Given the description of an element on the screen output the (x, y) to click on. 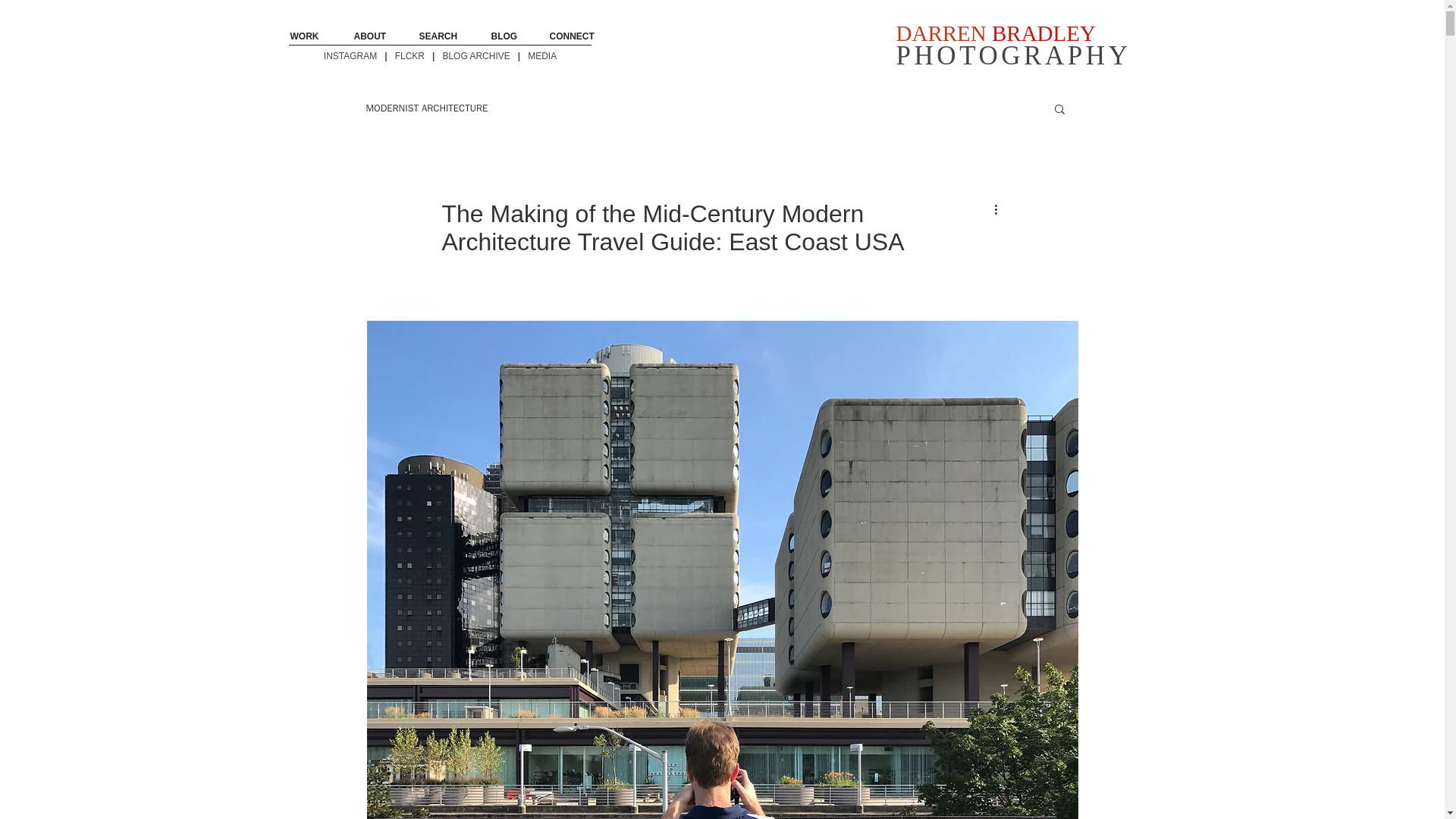
SEARCH (442, 36)
MEDIA (541, 55)
ABOUT (373, 36)
WORK (309, 36)
FLCKR (409, 55)
INSTAGRAM    (353, 55)
BLOG (506, 36)
BLOG ARCHIVE  (1013, 44)
MODERNIST ARCHITECTURE (477, 55)
CONNECT (426, 108)
